Given the description of an element on the screen output the (x, y) to click on. 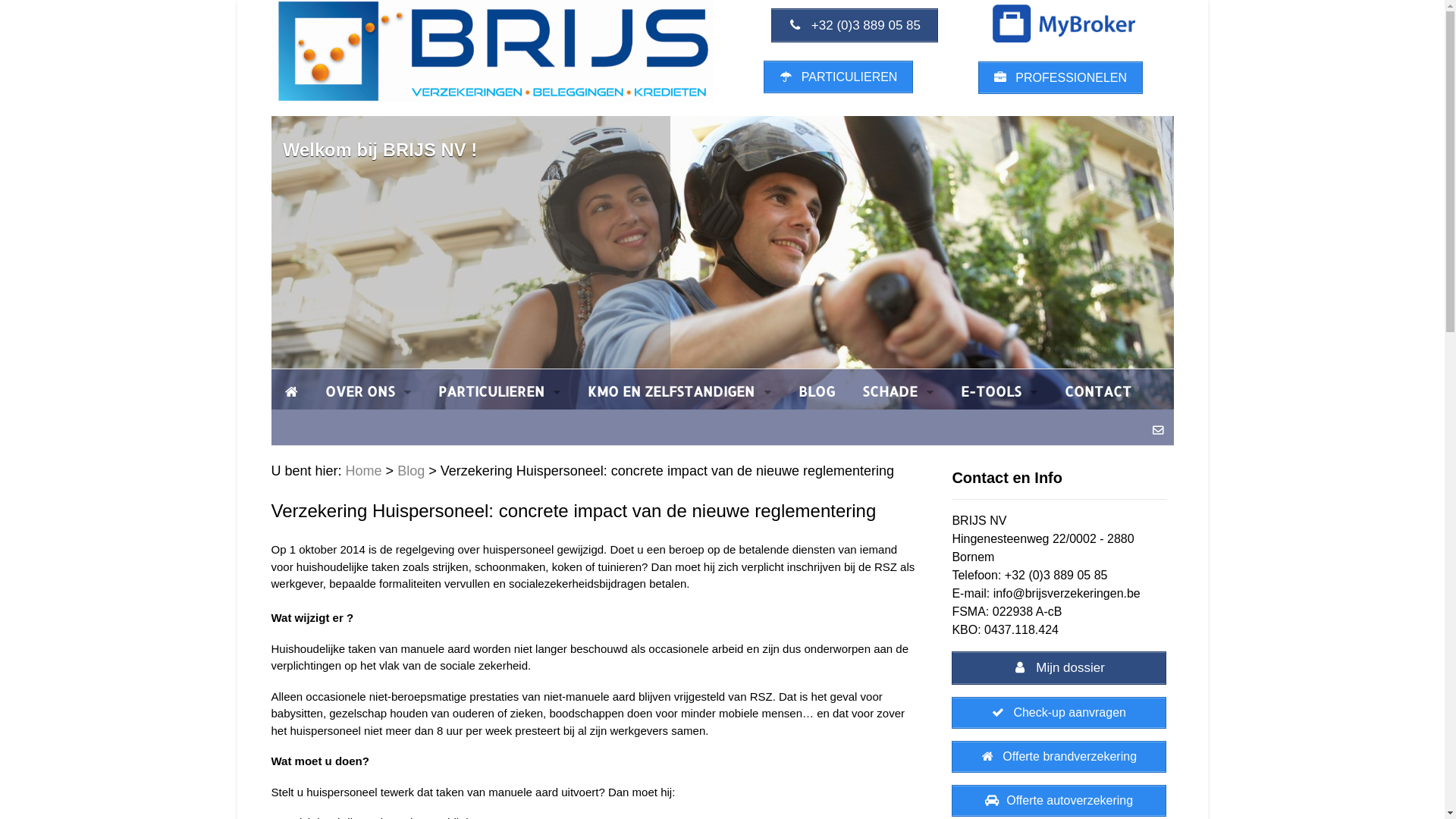
E-TOOLS Element type: text (999, 391)
SCHADE Element type: text (897, 391)
+32 (0)3 889 05 85 Element type: text (853, 25)
Offerte brandverzekering Element type: text (1058, 756)
Mijn dossier Element type: text (1058, 667)
Check-up aanvragen Element type: text (1058, 712)
CONTACT Element type: text (1098, 391)
PROFESSIONELEN Element type: text (1059, 77)
Offerte autoverzekering Element type: text (1058, 800)
KMO EN ZELFSTANDIGEN Element type: text (679, 391)
PARTICULIEREN Element type: text (838, 76)
PARTICULIEREN Element type: text (499, 391)
Home Element type: text (363, 470)
BLOG Element type: text (816, 391)
OVER ONS Element type: text (366, 391)
Blog Element type: text (410, 470)
